Given the description of an element on the screen output the (x, y) to click on. 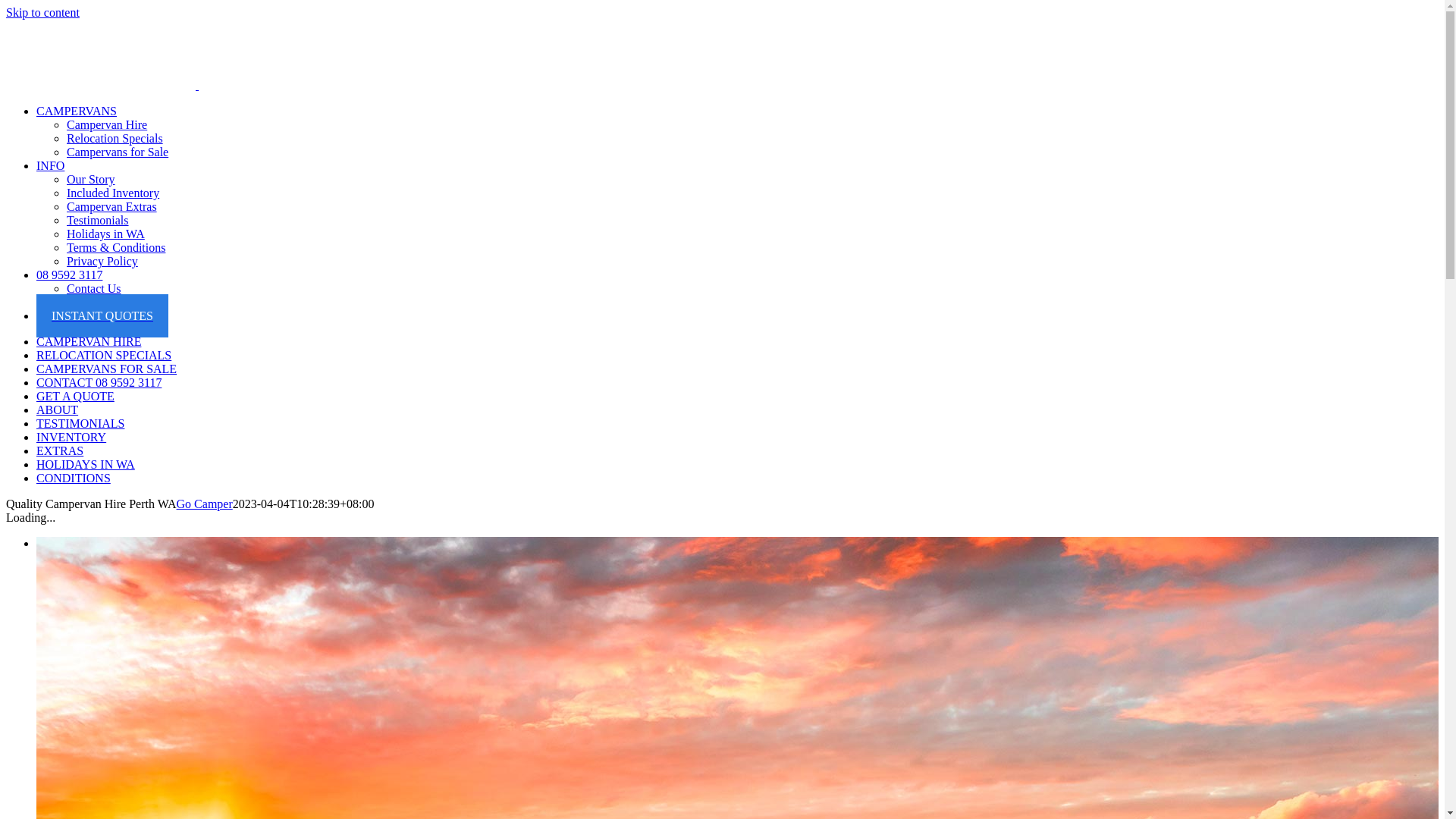
CAMPERVANS FOR SALE Element type: text (106, 368)
CONDITIONS Element type: text (73, 477)
INVENTORY Element type: text (71, 436)
Terms & Conditions Element type: text (115, 247)
INFO Element type: text (50, 165)
Contact Us Element type: text (93, 288)
Instant Quote Element type: text (99, 301)
HOLIDAYS IN WA Element type: text (85, 464)
INSTANT QUOTES Element type: text (102, 315)
ABOUT Element type: text (57, 409)
TESTIMONIALS Element type: text (80, 423)
CONTACT 08 9592 3117 Element type: text (98, 382)
Campervan Hire Element type: text (106, 124)
EXTRAS Element type: text (59, 450)
Relocation Specials Element type: text (114, 137)
Testimonials Element type: text (97, 219)
Included Inventory Element type: text (112, 192)
Go Camper Element type: text (204, 503)
Skip to content Element type: text (42, 12)
GET A QUOTE Element type: text (75, 395)
Campervans for Sale Element type: text (117, 151)
Our Story Element type: text (90, 178)
CAMPERVANS Element type: text (76, 110)
RELOCATION SPECIALS Element type: text (103, 354)
08 9592 3117 Element type: text (69, 274)
Campervan Extras Element type: text (111, 206)
Privacy Policy Element type: text (102, 260)
Holidays in WA Element type: text (105, 233)
CAMPERVAN HIRE Element type: text (88, 341)
